Given the description of an element on the screen output the (x, y) to click on. 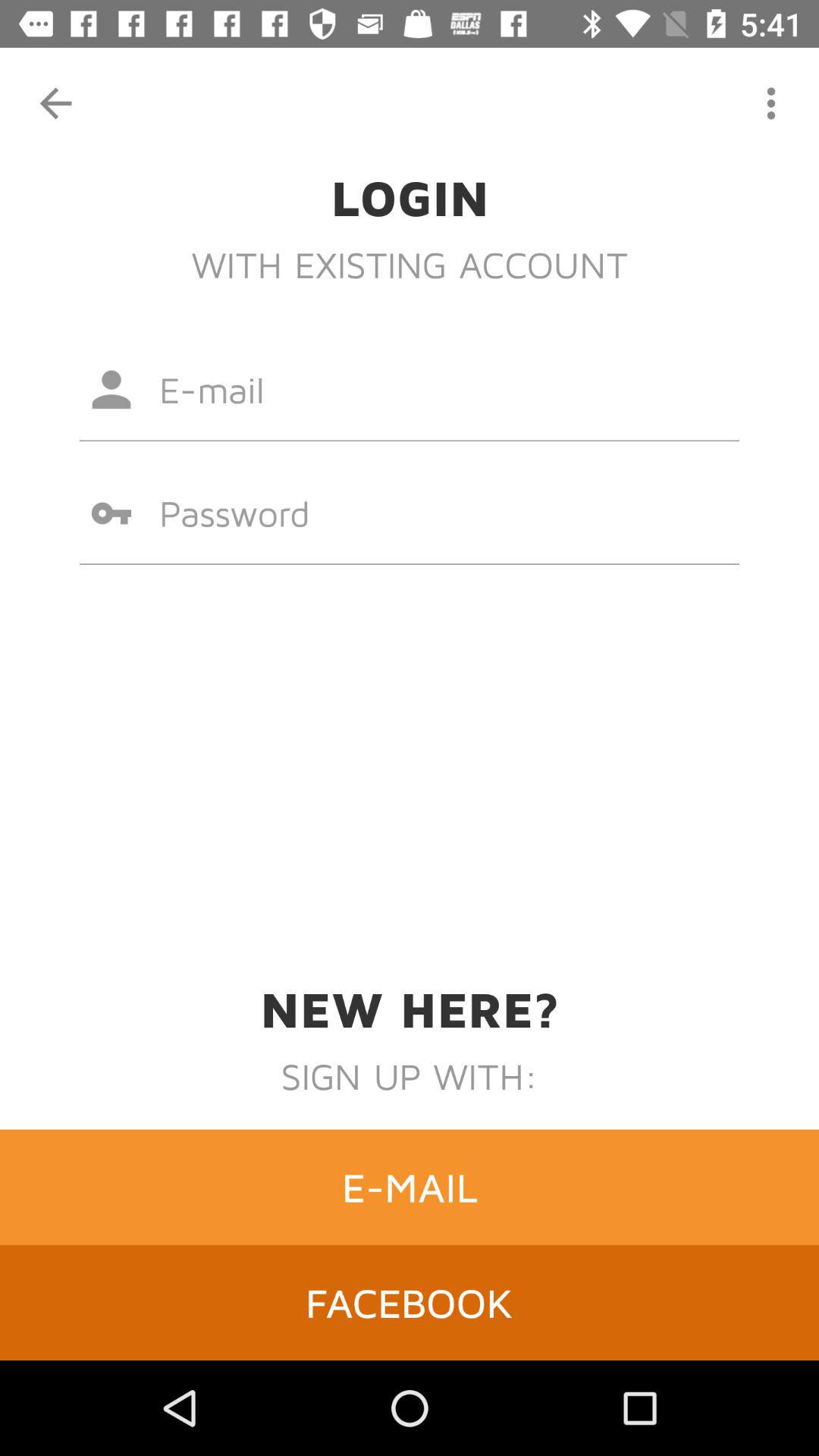
press e-mail (409, 1186)
